Given the description of an element on the screen output the (x, y) to click on. 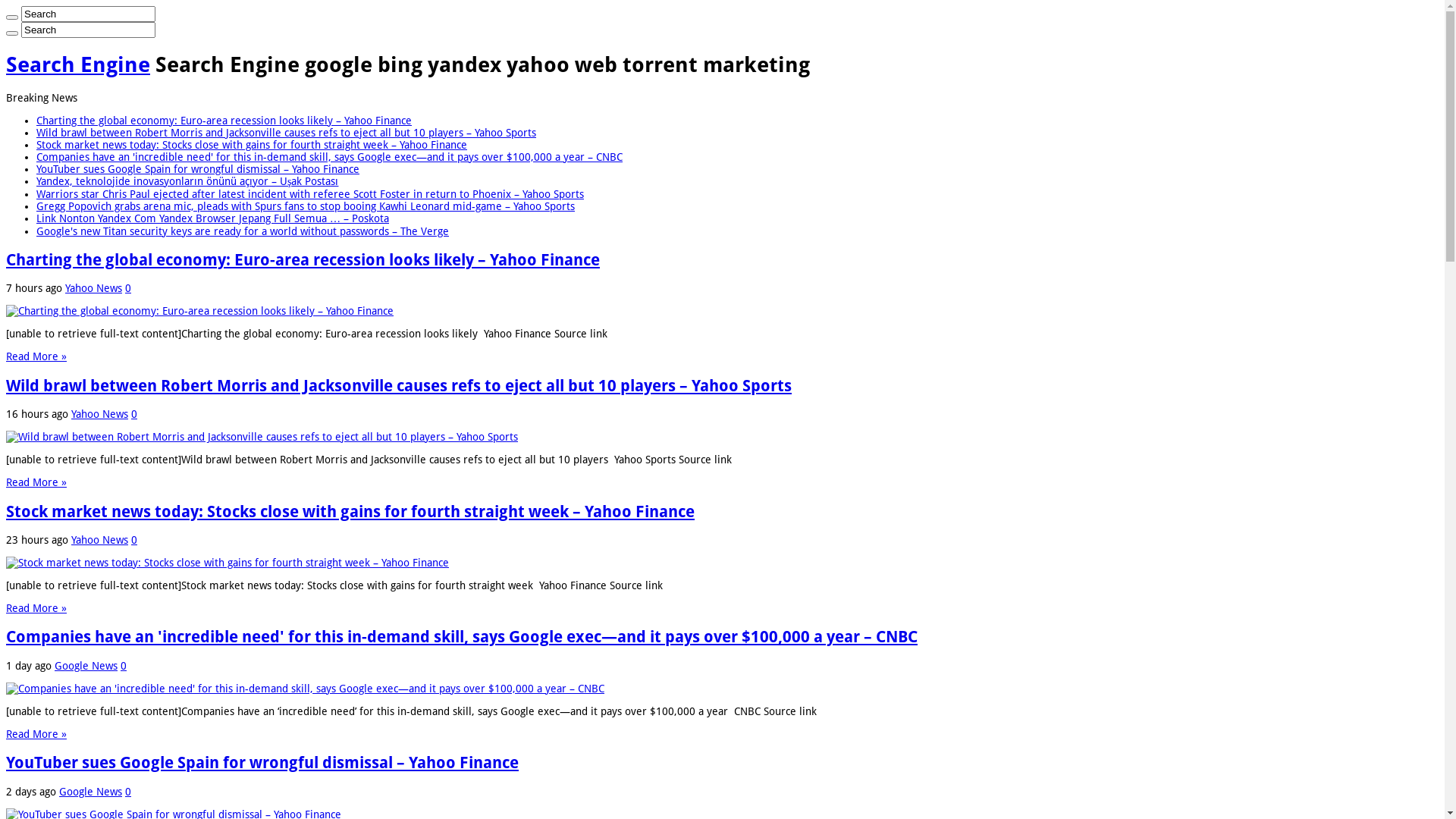
0 Element type: text (128, 288)
0 Element type: text (134, 413)
Google News Element type: text (90, 791)
0 Element type: text (134, 539)
Yahoo News Element type: text (99, 539)
Search Element type: text (12, 17)
Google News Element type: text (85, 665)
Yahoo News Element type: text (99, 413)
Search Element type: hover (88, 29)
Search Engine Element type: text (78, 64)
0 Element type: text (123, 665)
Yahoo News Element type: text (93, 288)
Search Element type: hover (88, 13)
0 Element type: text (128, 791)
Search Element type: text (12, 33)
